Given the description of an element on the screen output the (x, y) to click on. 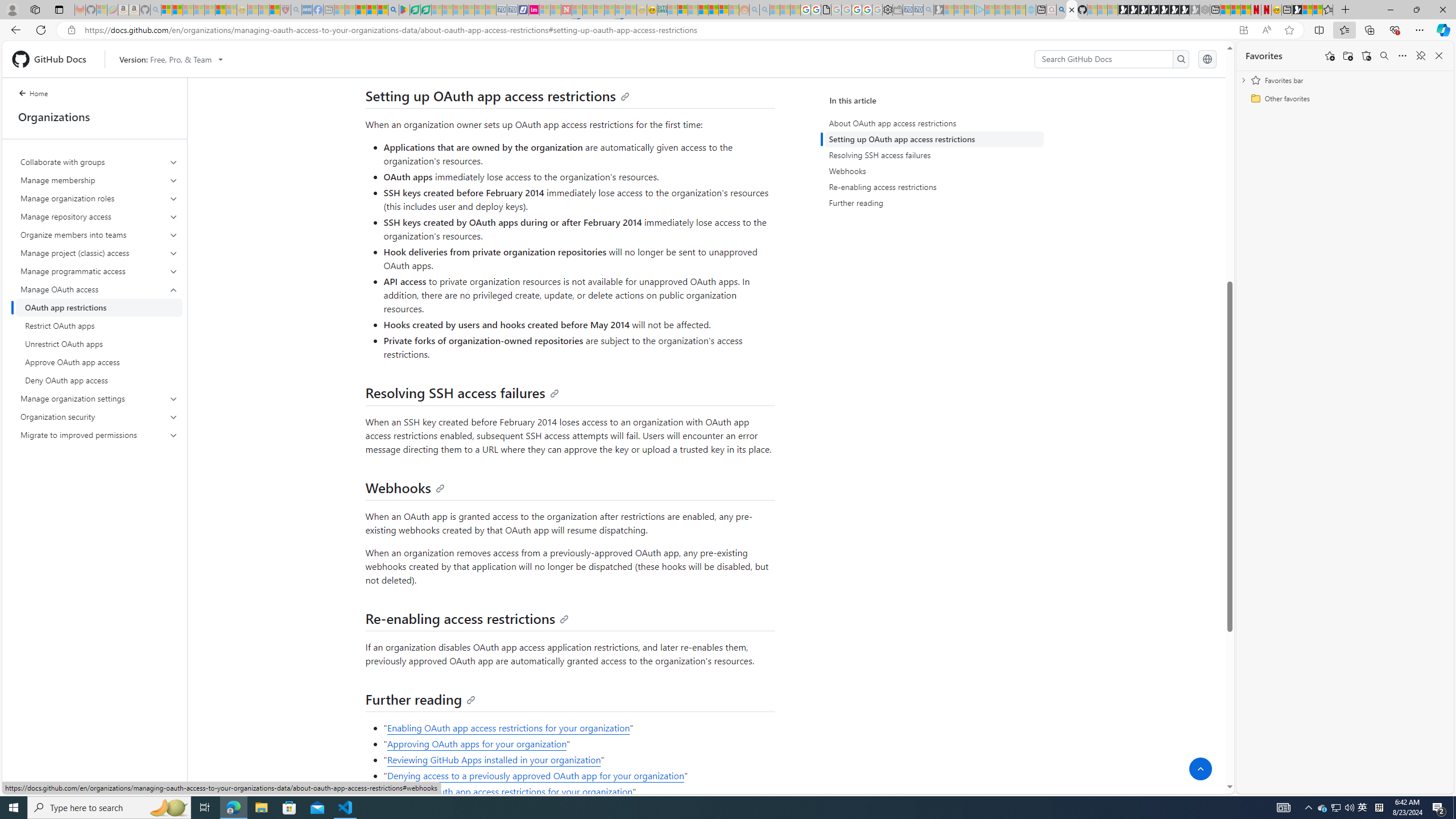
Webhooks (933, 170)
Jobs - lastminute.com Investor Portal (534, 9)
GitHub Docs (53, 58)
Search GitHub Docs (1104, 58)
OAuth app restrictions (99, 307)
App available. Install GitHub Docs (1243, 29)
Manage organization roles (99, 198)
